Given the description of an element on the screen output the (x, y) to click on. 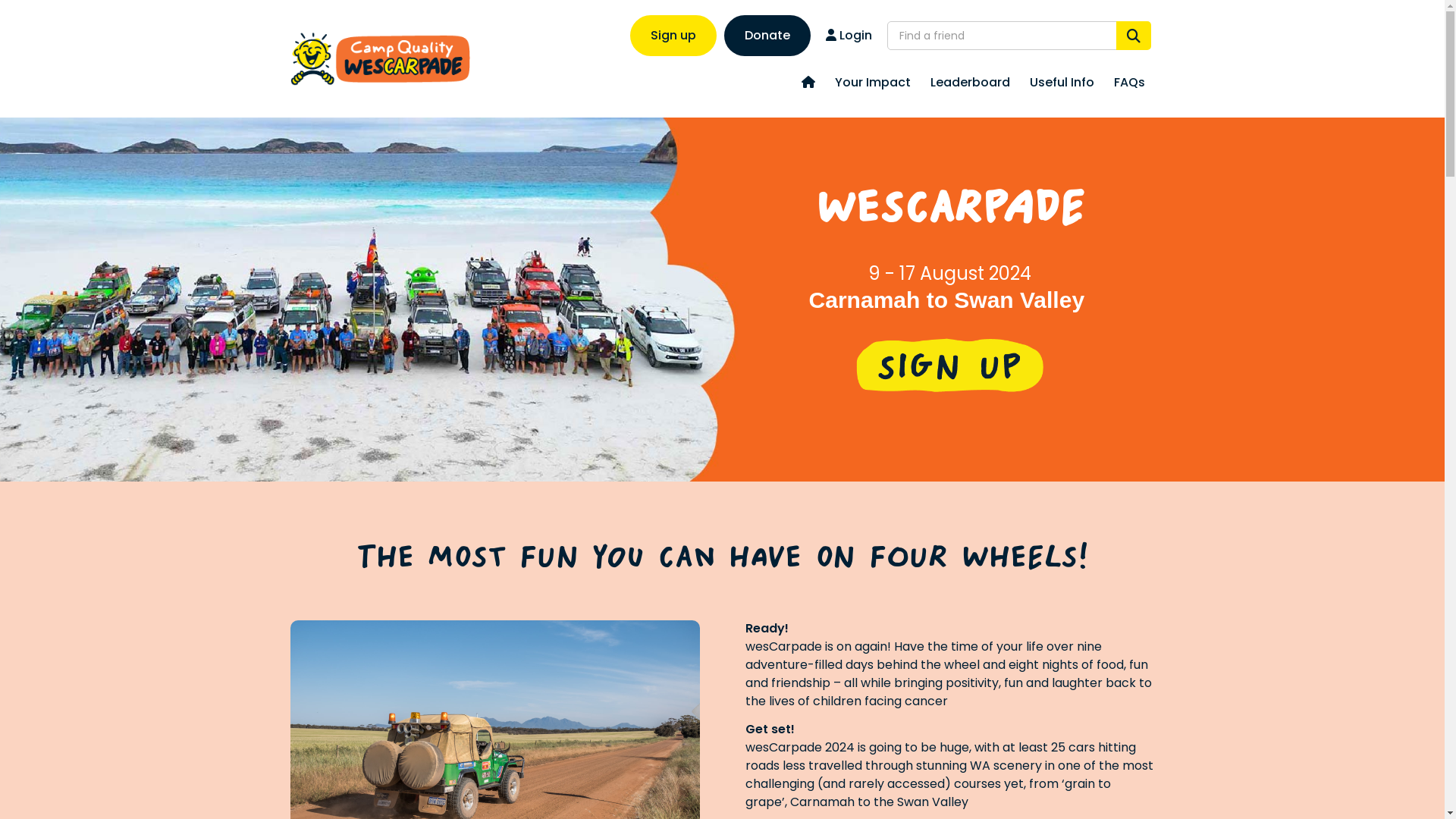
Your Impact Element type: text (872, 82)
Sign up Element type: text (672, 35)
Donate Element type: text (766, 35)
FAQs Element type: text (1129, 82)
Leaderboard Element type: text (969, 82)
Useful Info Element type: text (1061, 82)
Login Element type: text (848, 35)
